Given the description of an element on the screen output the (x, y) to click on. 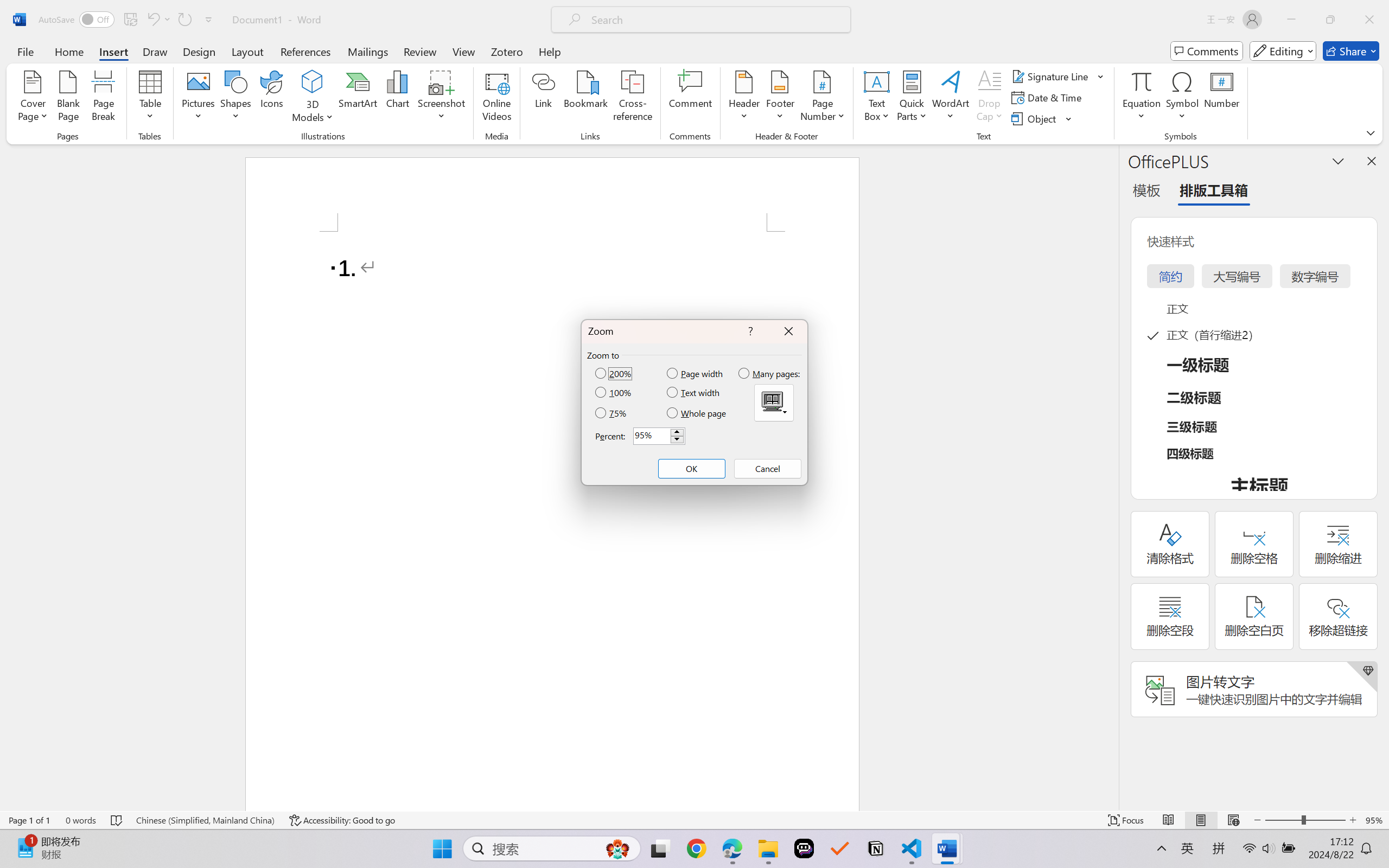
Many pages: (769, 373)
Microsoft search (715, 19)
Object... (1042, 118)
Symbol (1181, 97)
Language Chinese (Simplified, Mainland China) (205, 819)
